Given the description of an element on the screen output the (x, y) to click on. 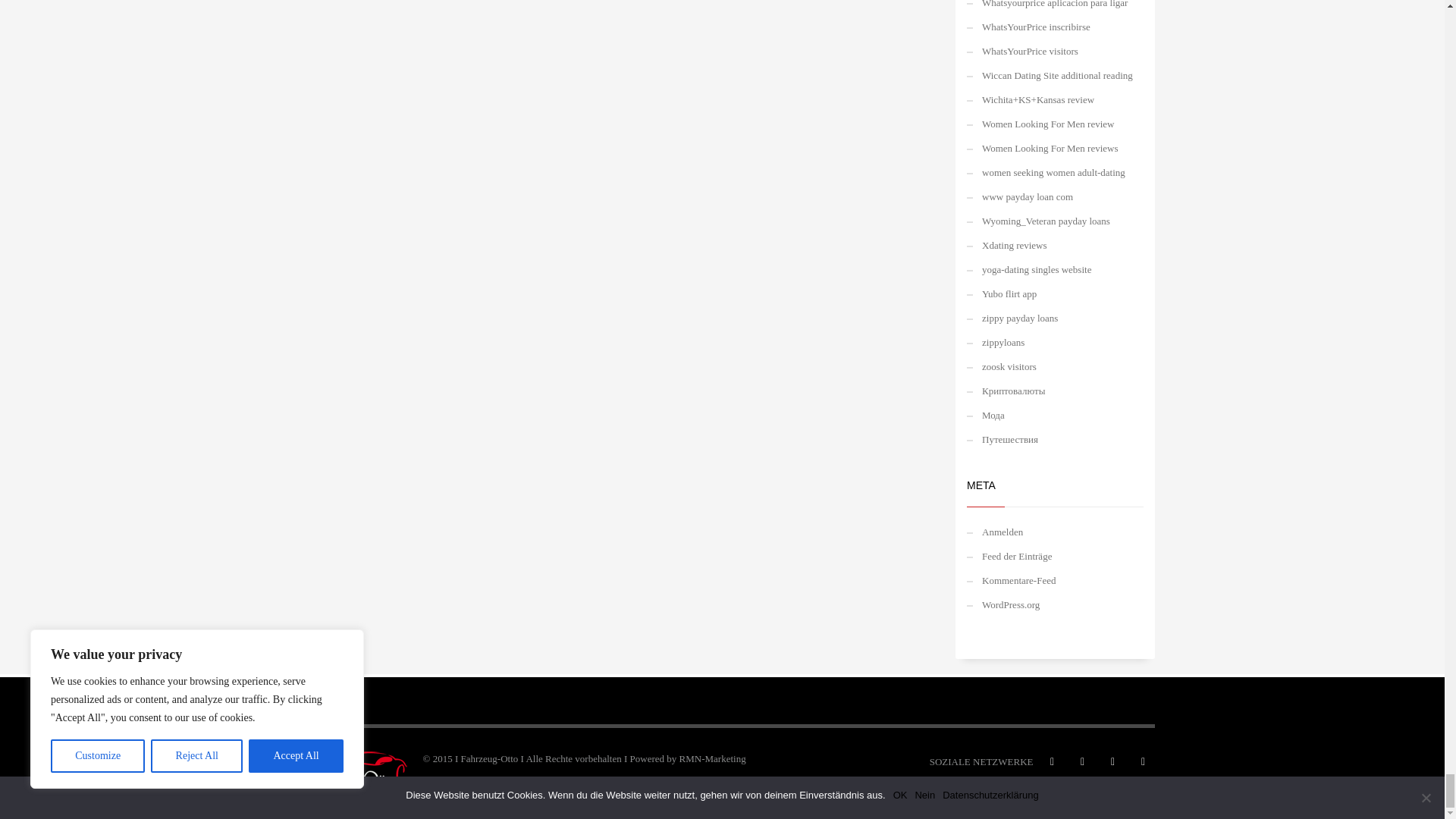
Follow our tweets! (1081, 762)
Pinterest (1112, 762)
Like us on Facebook! (1051, 762)
Envato (1142, 762)
